Given the description of an element on the screen output the (x, y) to click on. 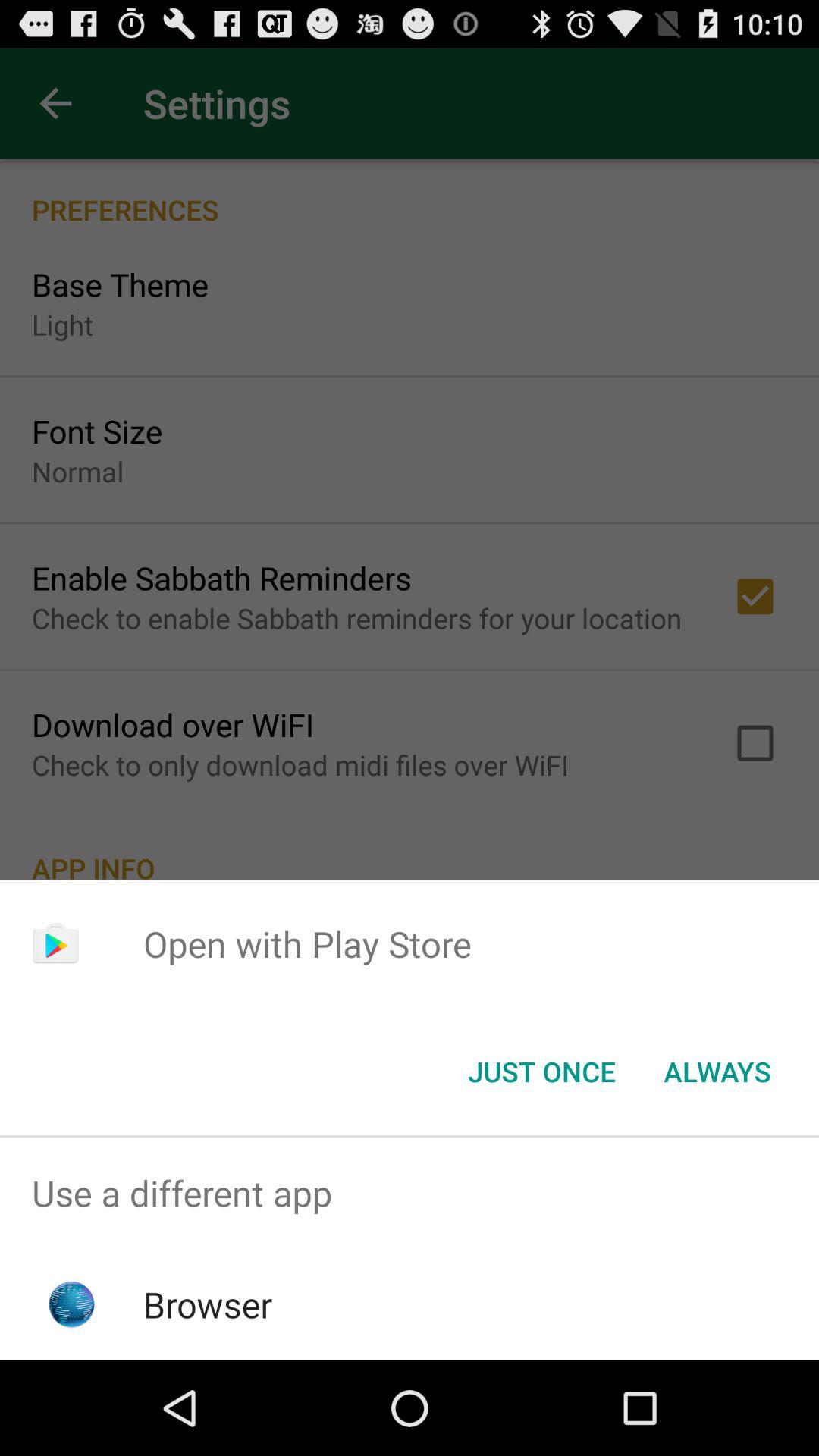
press app below open with play app (717, 1071)
